Given the description of an element on the screen output the (x, y) to click on. 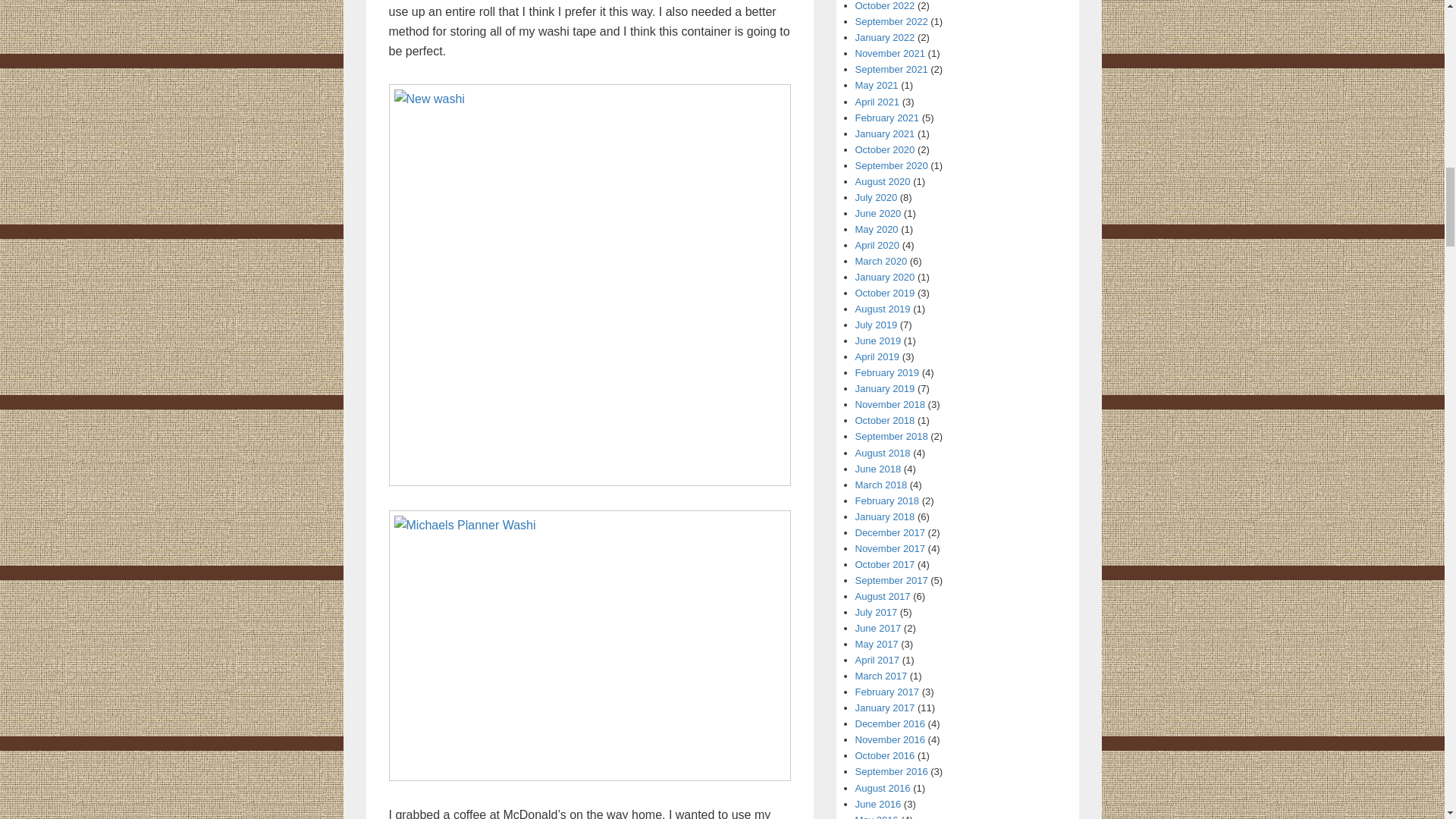
Michaels Planner Washi (589, 645)
